Given the description of an element on the screen output the (x, y) to click on. 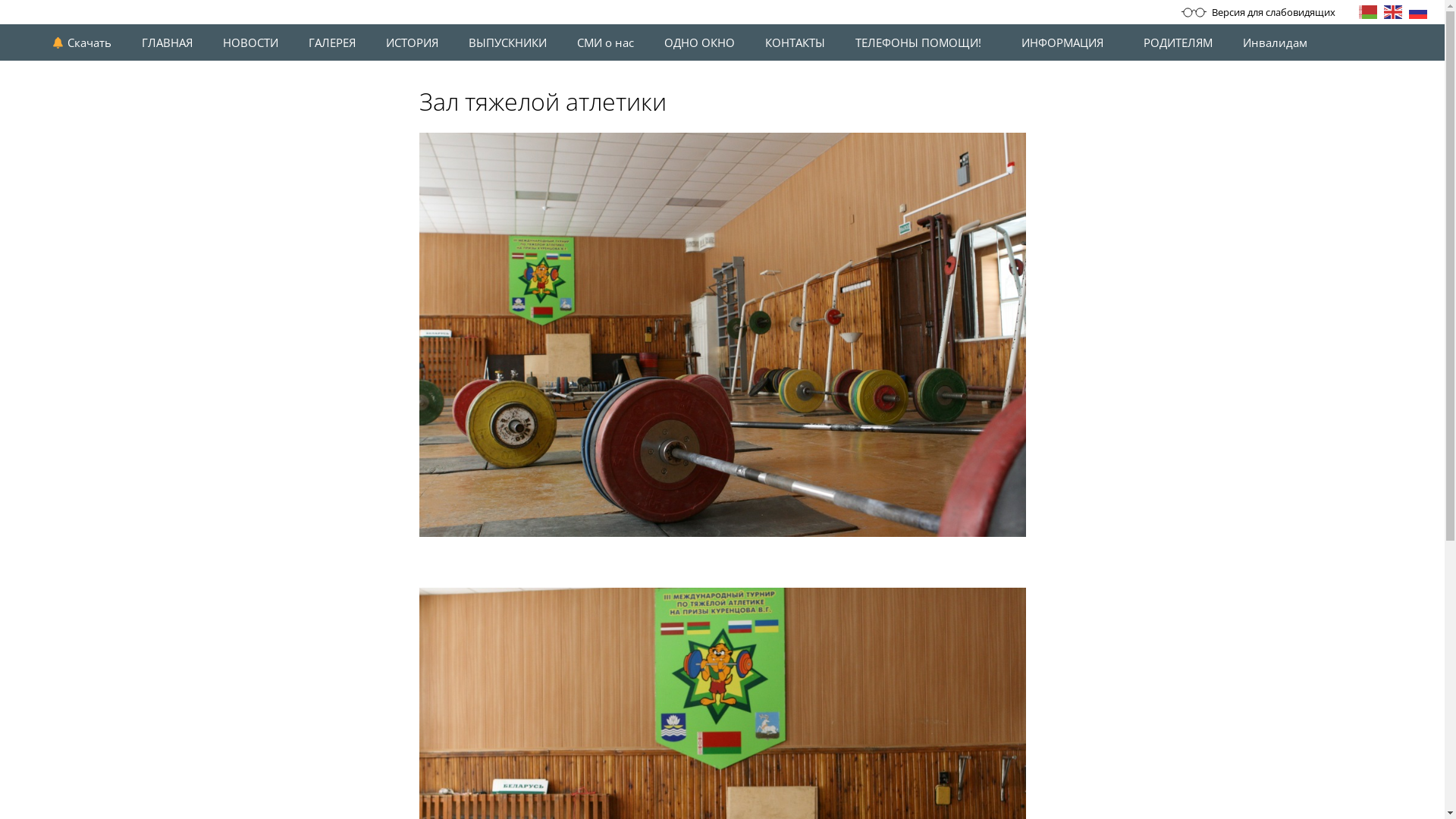
English Element type: hover (1393, 11)
